Given the description of an element on the screen output the (x, y) to click on. 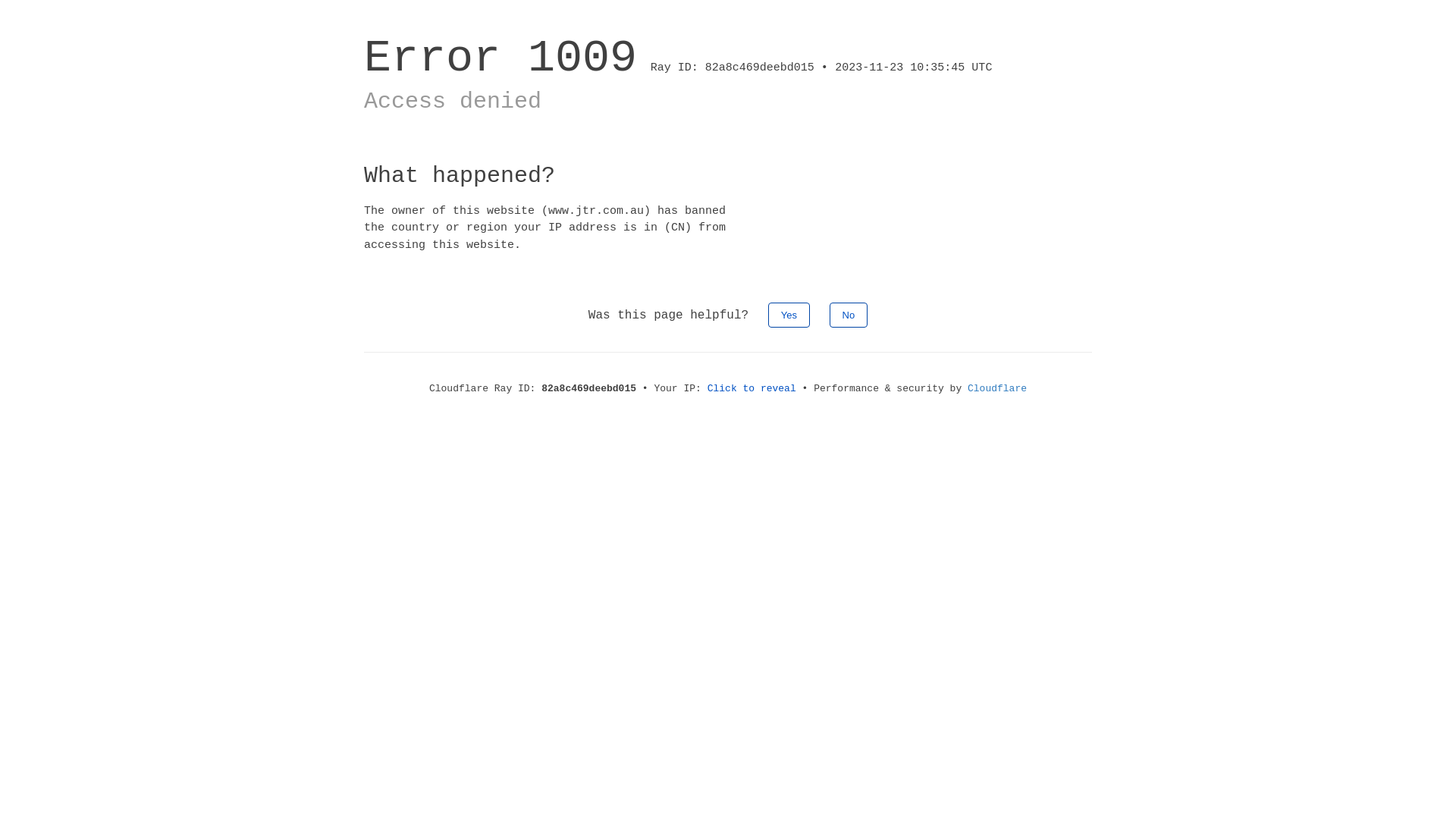
Cloudflare Element type: text (996, 388)
Click to reveal Element type: text (751, 388)
Yes Element type: text (788, 314)
No Element type: text (848, 314)
